Given the description of an element on the screen output the (x, y) to click on. 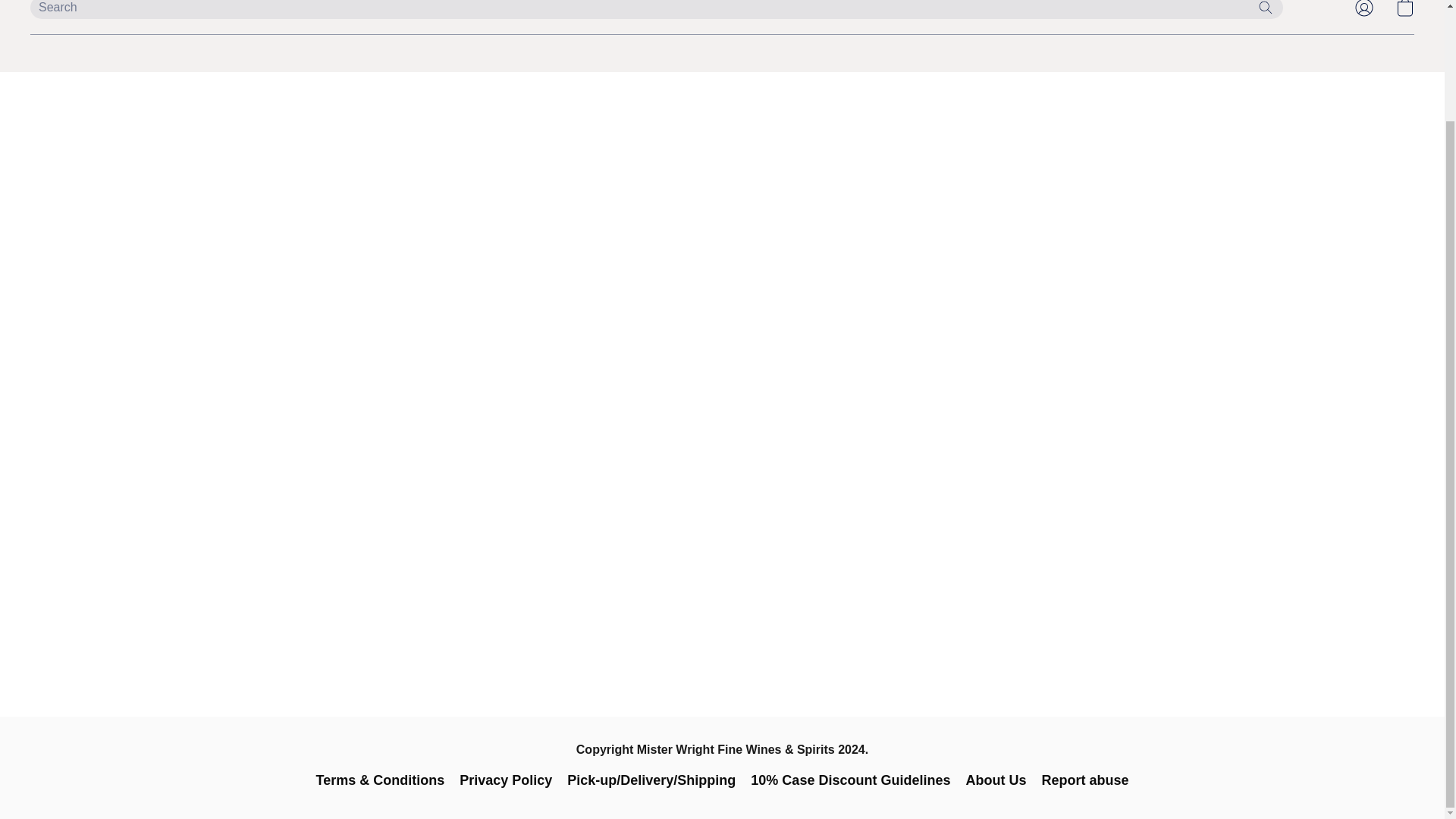
Report abuse (1084, 780)
Go to your shopping cart (1404, 12)
Privacy Policy (505, 780)
About Us (995, 780)
